Given the description of an element on the screen output the (x, y) to click on. 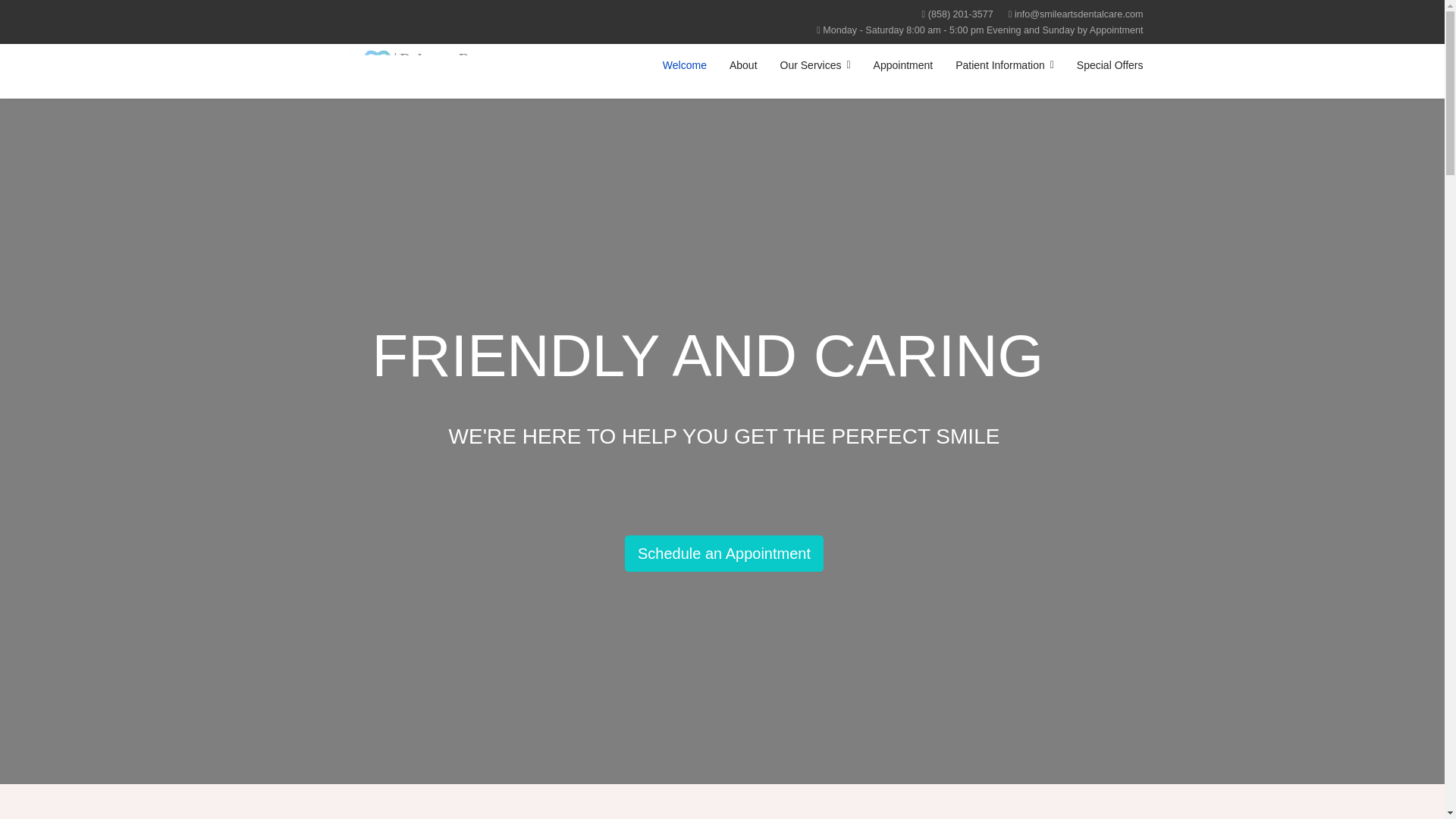
About (742, 65)
Patient Information (1004, 65)
Welcome (683, 65)
Our Services (814, 65)
Schedule an Appointment (724, 553)
Special Offers (1109, 65)
Appointment (902, 65)
